Given the description of an element on the screen output the (x, y) to click on. 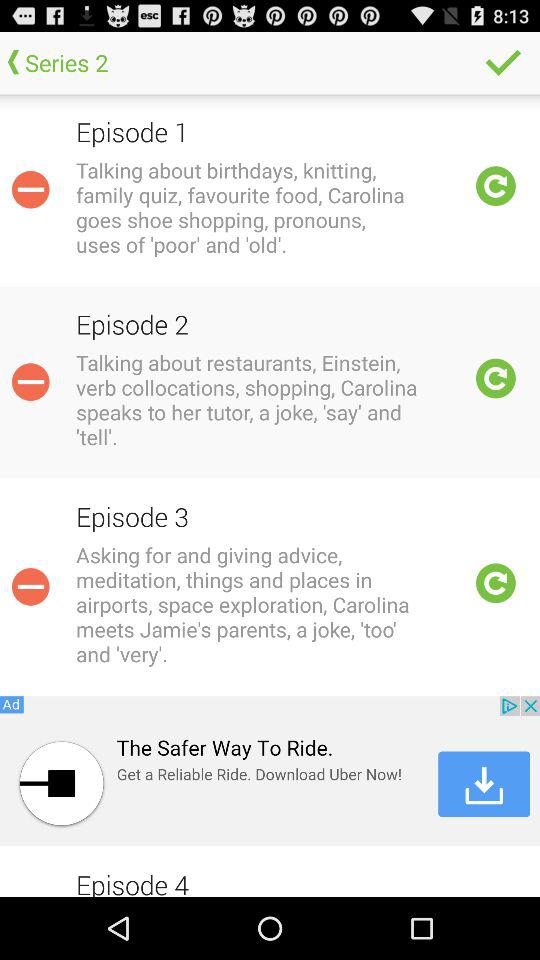
remove button (30, 586)
